Given the description of an element on the screen output the (x, y) to click on. 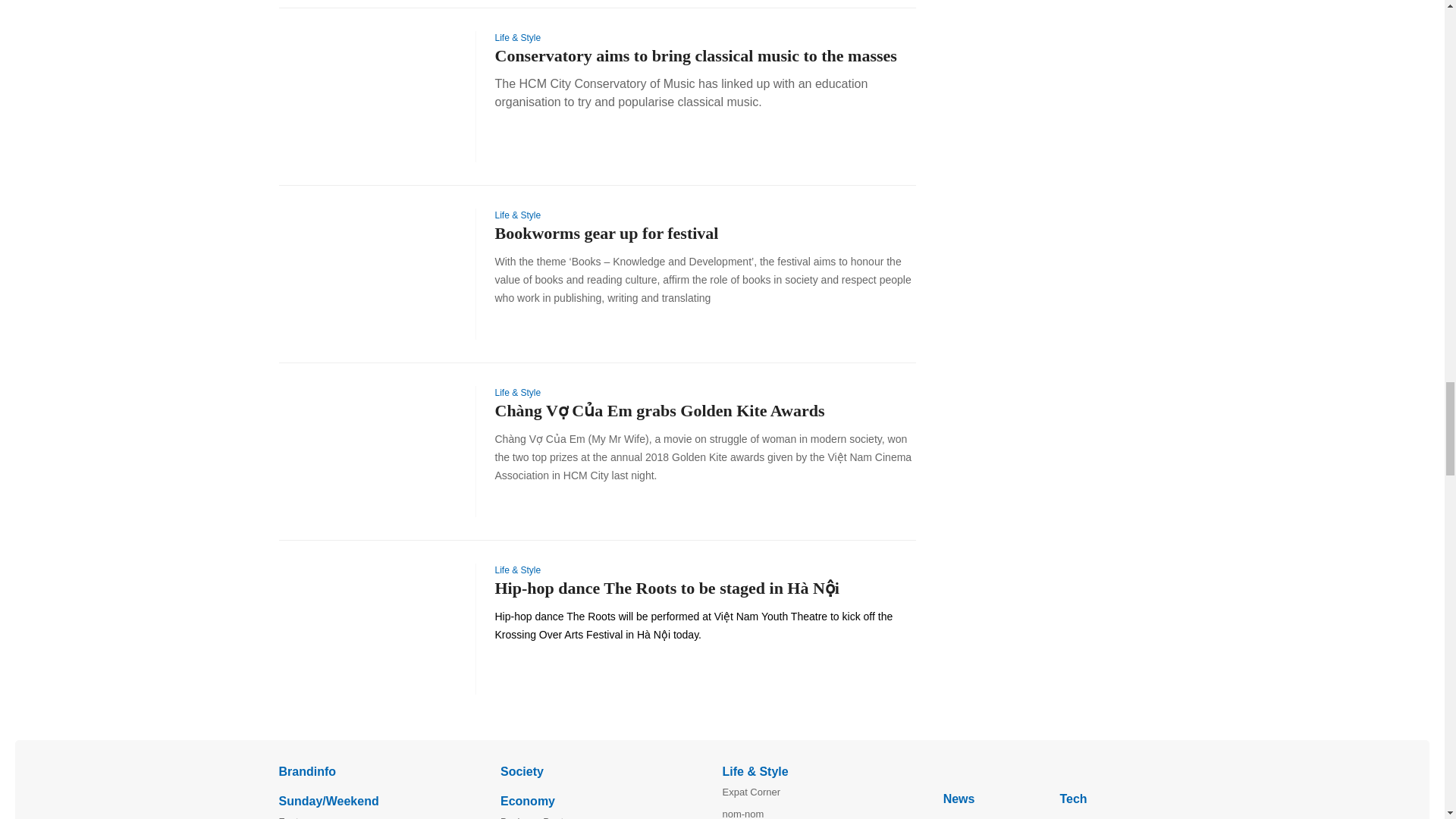
bizhub (1054, 770)
